Given the description of an element on the screen output the (x, y) to click on. 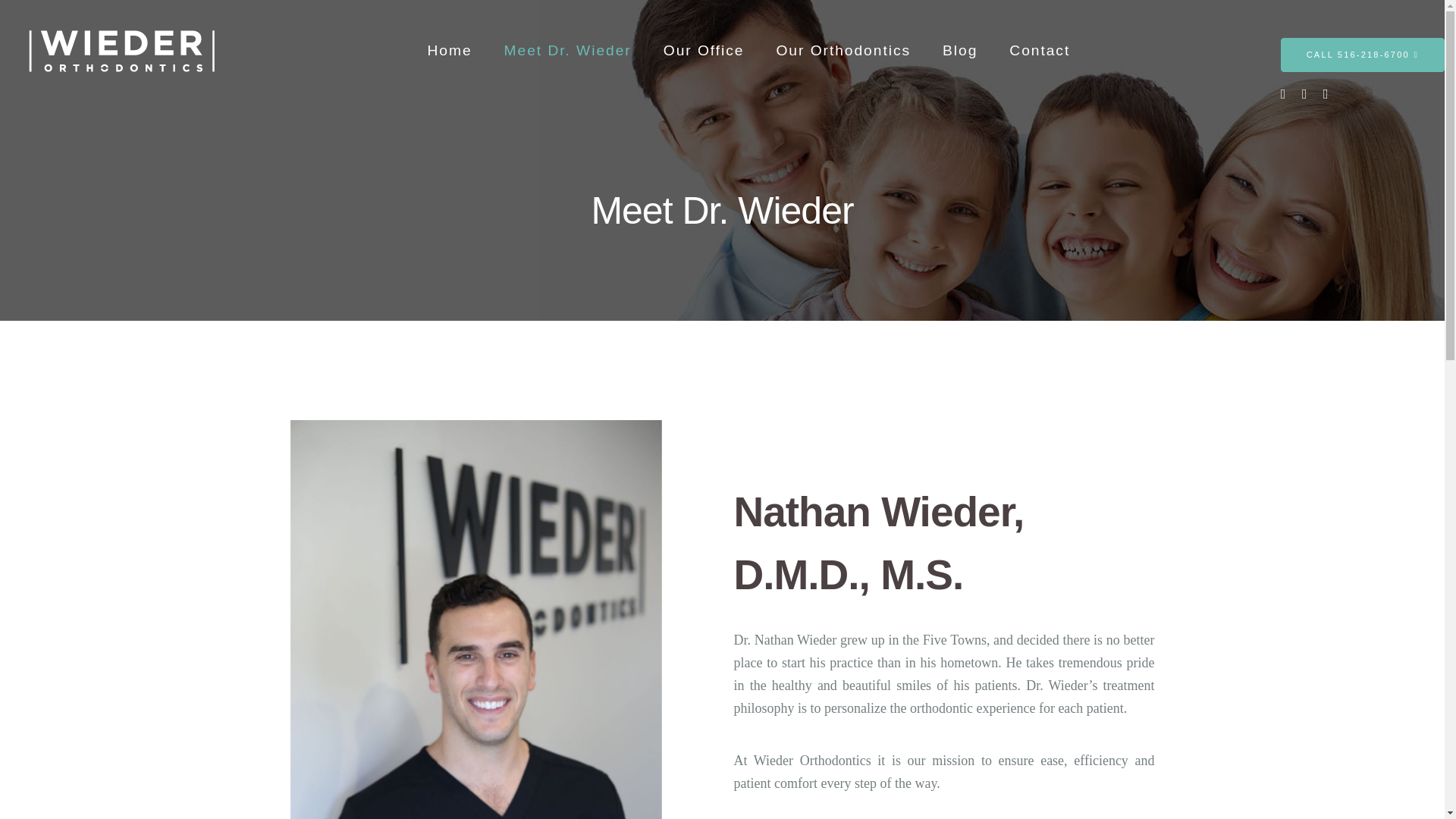
Home (449, 50)
Meet Dr. Wieder (647, 688)
Our Office (750, 688)
Contact (749, 717)
Home (556, 688)
Meet Dr. Wieder (567, 50)
Contact (1039, 50)
Blog (687, 717)
Our Orthodontics (843, 50)
Our Orthodontics (855, 688)
Our Office (703, 50)
